Given the description of an element on the screen output the (x, y) to click on. 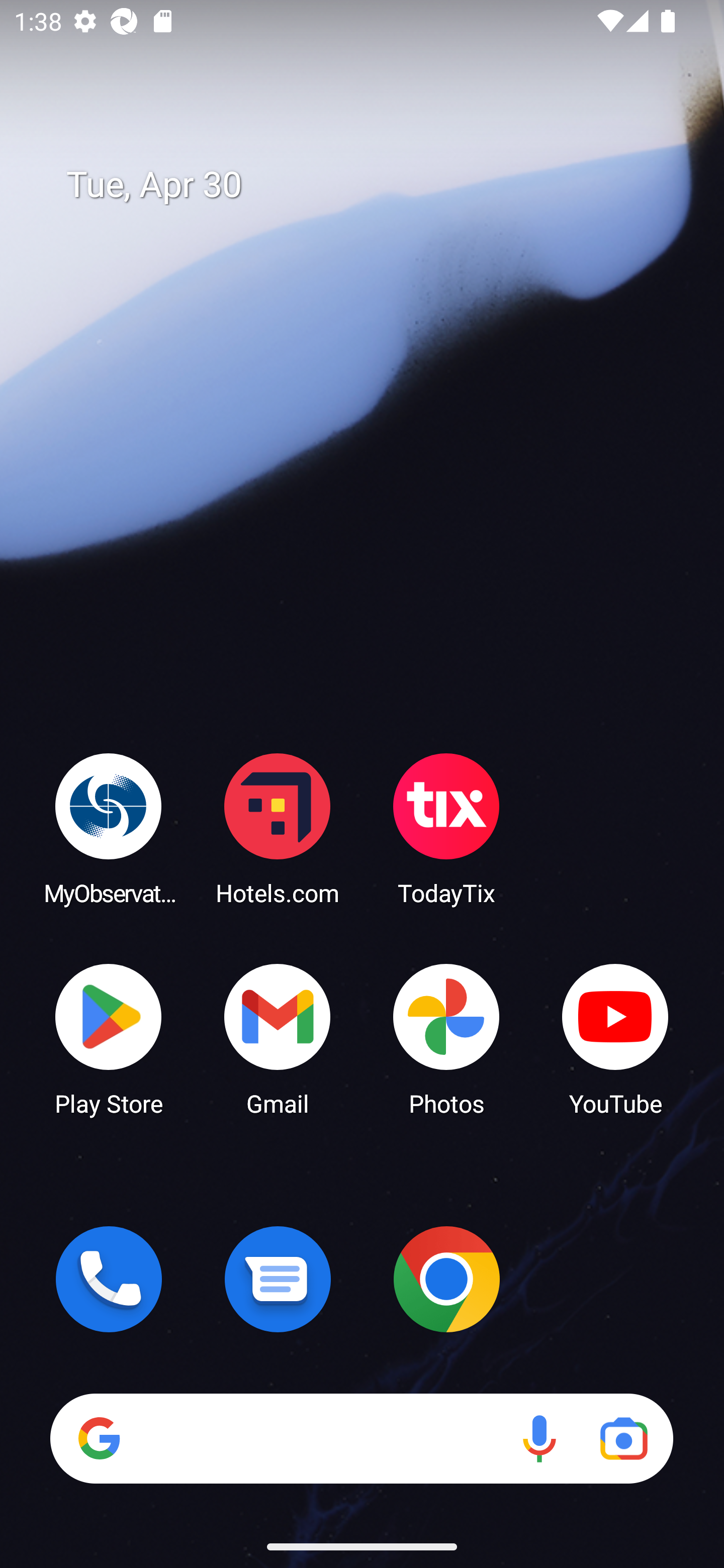
Tue, Apr 30 (375, 184)
MyObservatory (108, 828)
Hotels.com (277, 828)
TodayTix (445, 828)
Play Store (108, 1038)
Gmail (277, 1038)
Photos (445, 1038)
YouTube (615, 1038)
Phone (108, 1279)
Messages (277, 1279)
Chrome (446, 1279)
Voice search (539, 1438)
Google Lens (623, 1438)
